Given the description of an element on the screen output the (x, y) to click on. 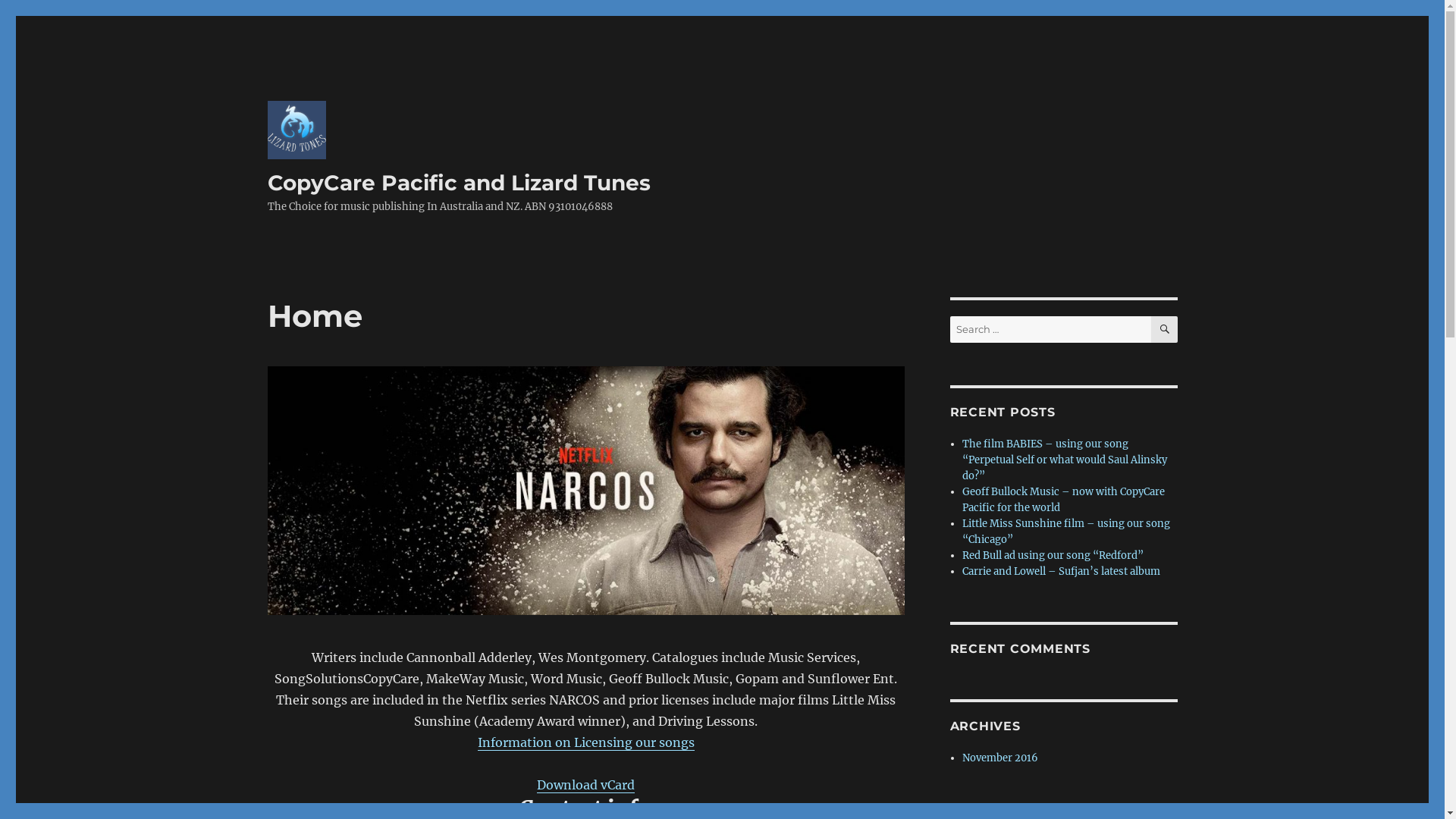
November 2016 Element type: text (1000, 757)
CopyCare Pacific and Lizard Tunes Element type: text (457, 182)
SEARCH Element type: text (1164, 329)
Information on Licensing our songs Element type: text (585, 741)
Download vCard Element type: text (585, 784)
